Given the description of an element on the screen output the (x, y) to click on. 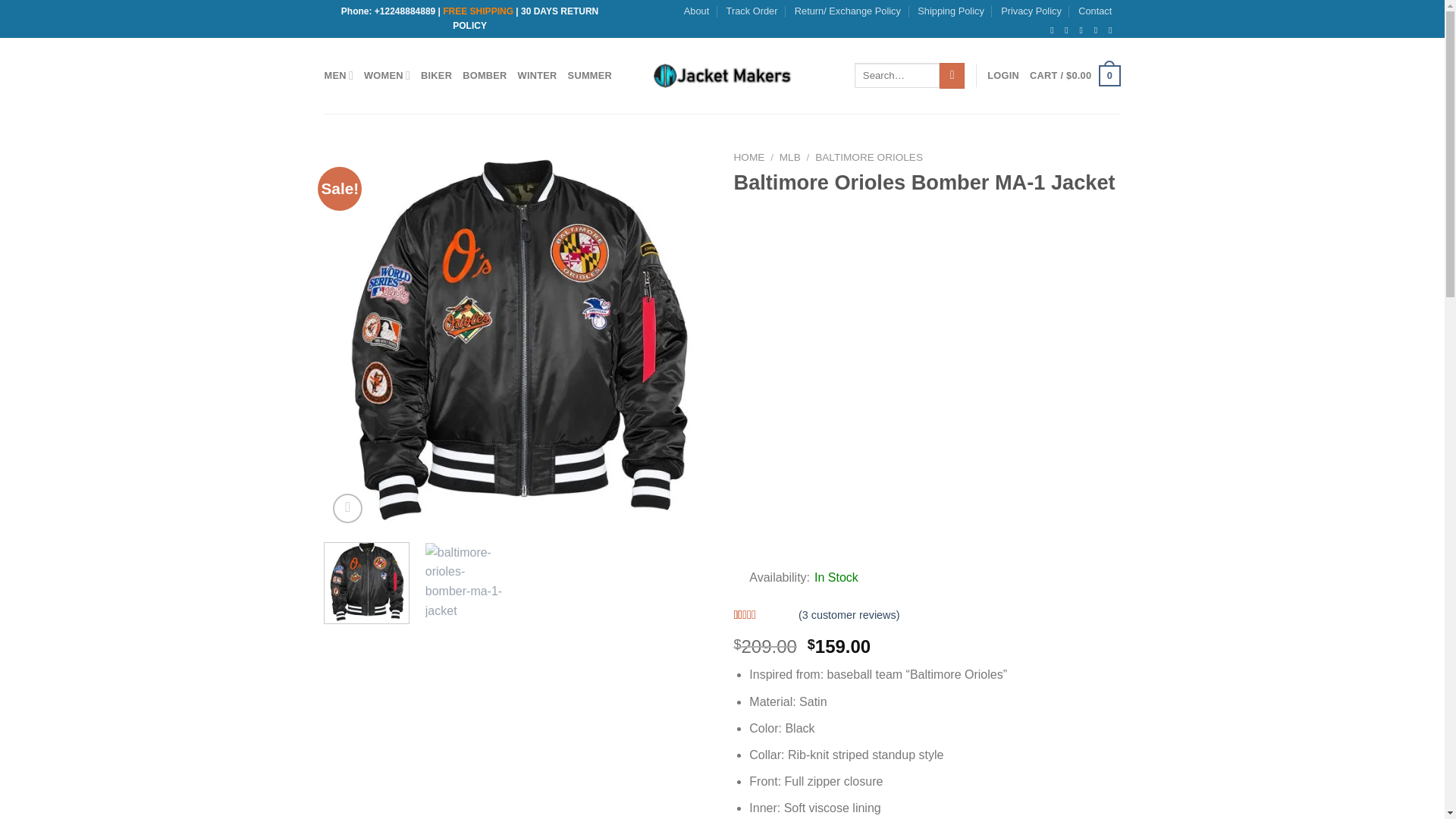
Privacy Policy (1031, 11)
MEN (338, 75)
Zoom (347, 508)
Cart (1074, 75)
Shipping Policy (950, 11)
Track Order (751, 11)
Contact (1095, 11)
